Given the description of an element on the screen output the (x, y) to click on. 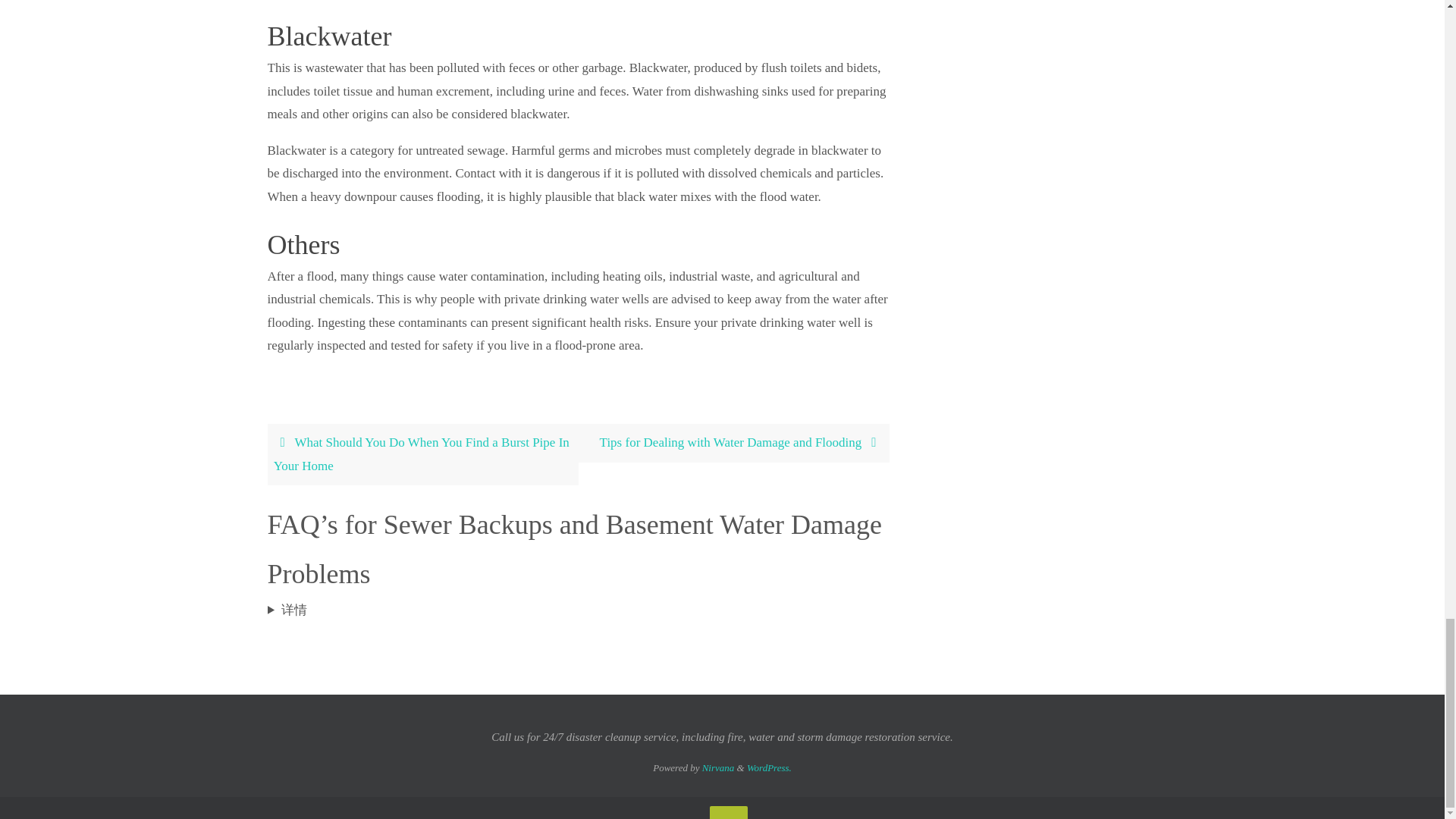
Semantic Personal Publishing Platform (769, 767)
WordPress. (769, 767)
Nirvana Theme by Cryout Creations (718, 767)
Nirvana (718, 767)
What Should You Do When You Find a Burst Pipe In Your Home (422, 454)
Tips for Dealing with Water Damage and Flooding (733, 443)
